Given the description of an element on the screen output the (x, y) to click on. 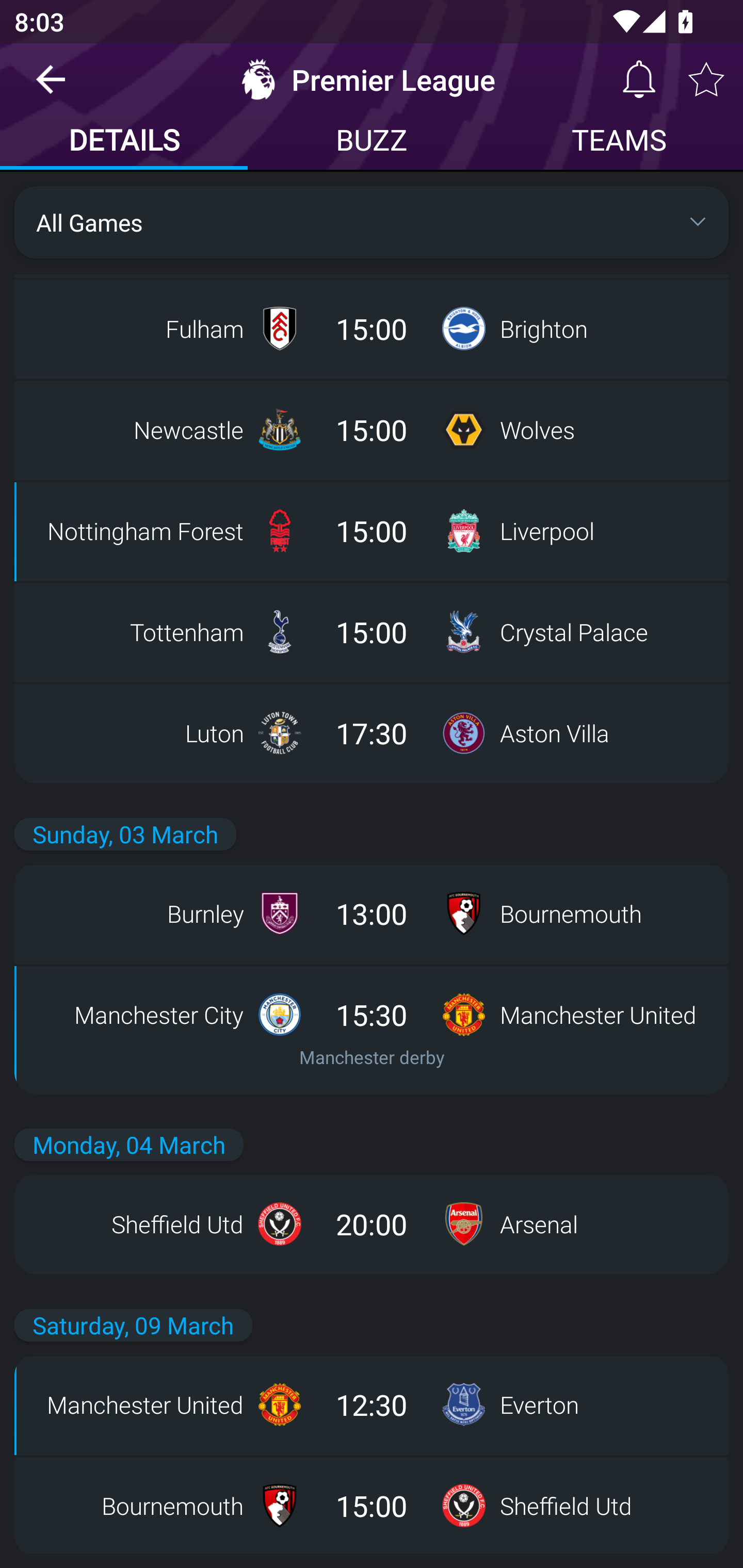
Navigate up (50, 86)
DETAILS (123, 142)
BUZZ (371, 142)
TEAMS (619, 142)
All Games (371, 222)
Fulham 15:00 Brighton (371, 328)
Newcastle 15:00 Wolves (371, 429)
Nottingham Forest 15:00 Liverpool (371, 530)
Tottenham 15:00 Crystal Palace (371, 631)
Luton 17:30 Aston Villa (371, 733)
Burnley 13:00 Bournemouth (371, 913)
Sheffield Utd 20:00 Arsenal (371, 1223)
Manchester United 12:30 Everton (371, 1404)
Bournemouth 15:00 Sheffield Utd (371, 1504)
